Given the description of an element on the screen output the (x, y) to click on. 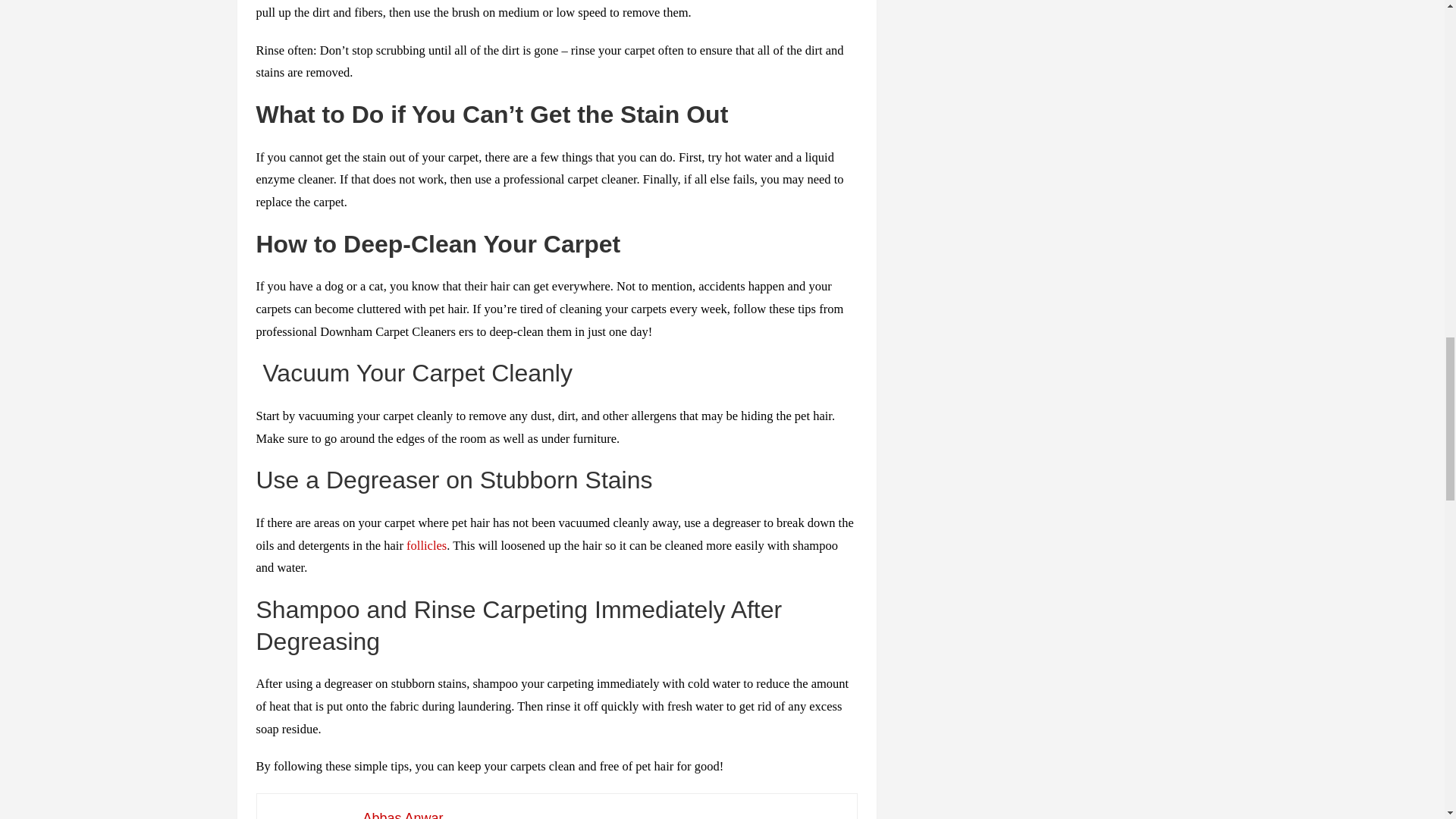
follicles (426, 545)
Abbas Anwar (402, 814)
